Given the description of an element on the screen output the (x, y) to click on. 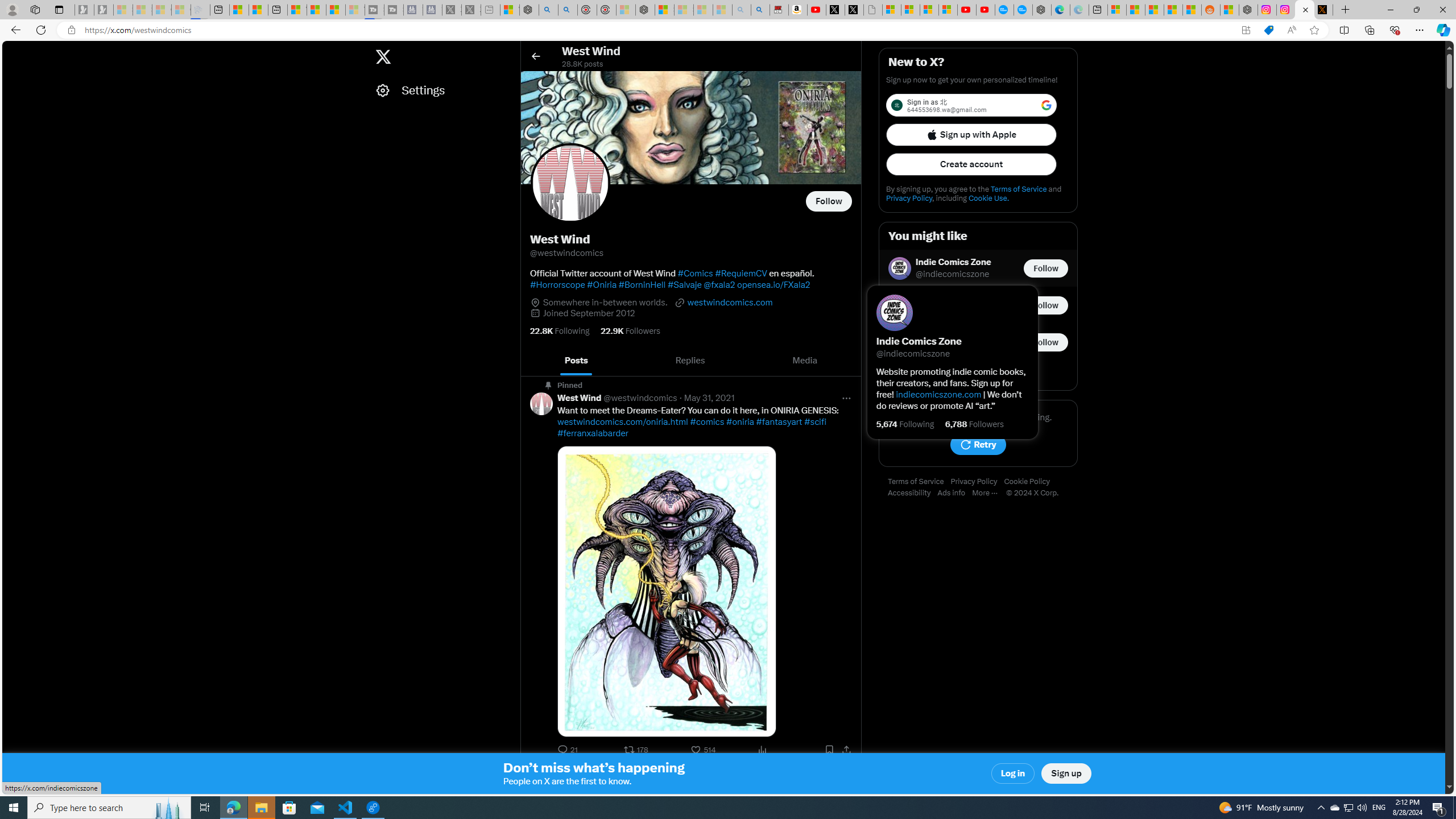
@speakcomix (942, 348)
Shanghai, China hourly forecast | Microsoft Weather (1154, 9)
Follow @speakcomix (1045, 341)
Sign up with Apple (971, 134)
Bookmark (829, 749)
Gloom - YouTube (966, 9)
Indie Comics Zone @indiecomicszone Follow @indiecomicszone (978, 268)
178 reposts. Repost (637, 749)
Opens profile photo (569, 182)
#Oniria (601, 284)
@westwindcomics (639, 775)
Skip to trending (12, 50)
